Given the description of an element on the screen output the (x, y) to click on. 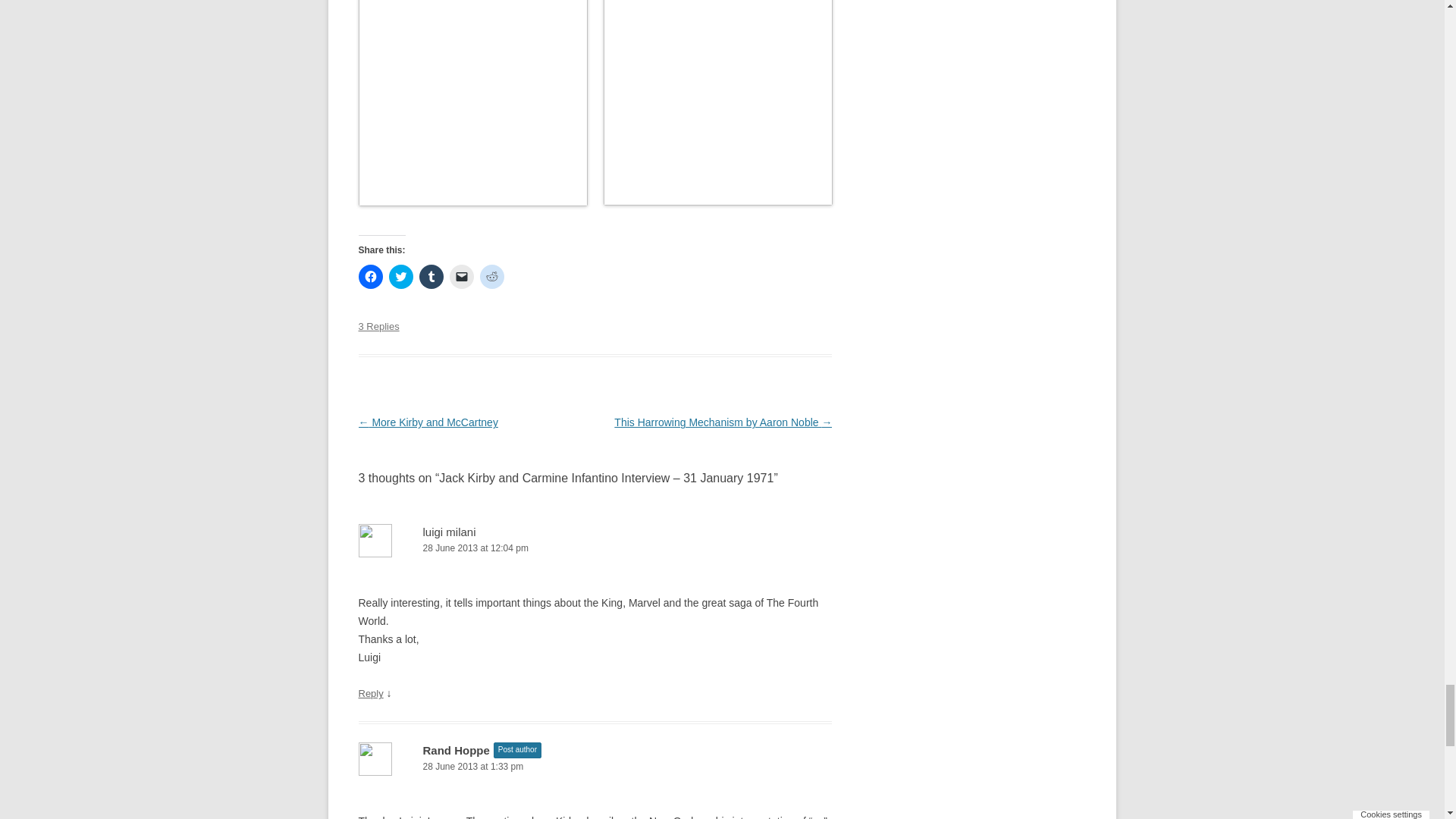
Click to share on Reddit (491, 276)
Click to share on Twitter (400, 276)
Click to share on Facebook (369, 276)
3 Replies (378, 326)
Click to share on Tumblr (430, 276)
Click to email a link to a friend (460, 276)
